Given the description of an element on the screen output the (x, y) to click on. 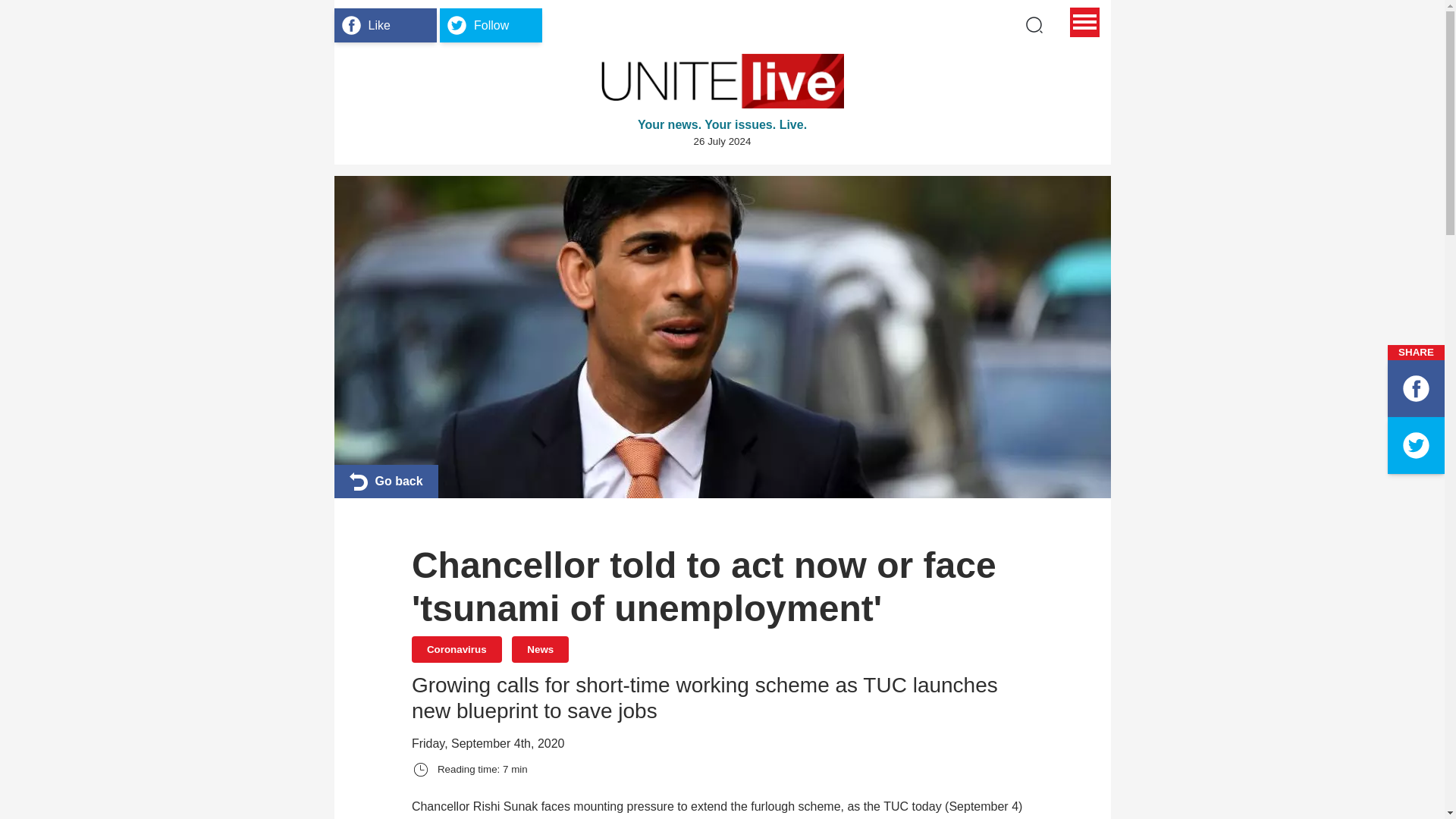
Go back (385, 481)
Homepage (722, 81)
Like (384, 24)
News (540, 649)
Coronavirus (457, 649)
Follow (490, 24)
